Given the description of an element on the screen output the (x, y) to click on. 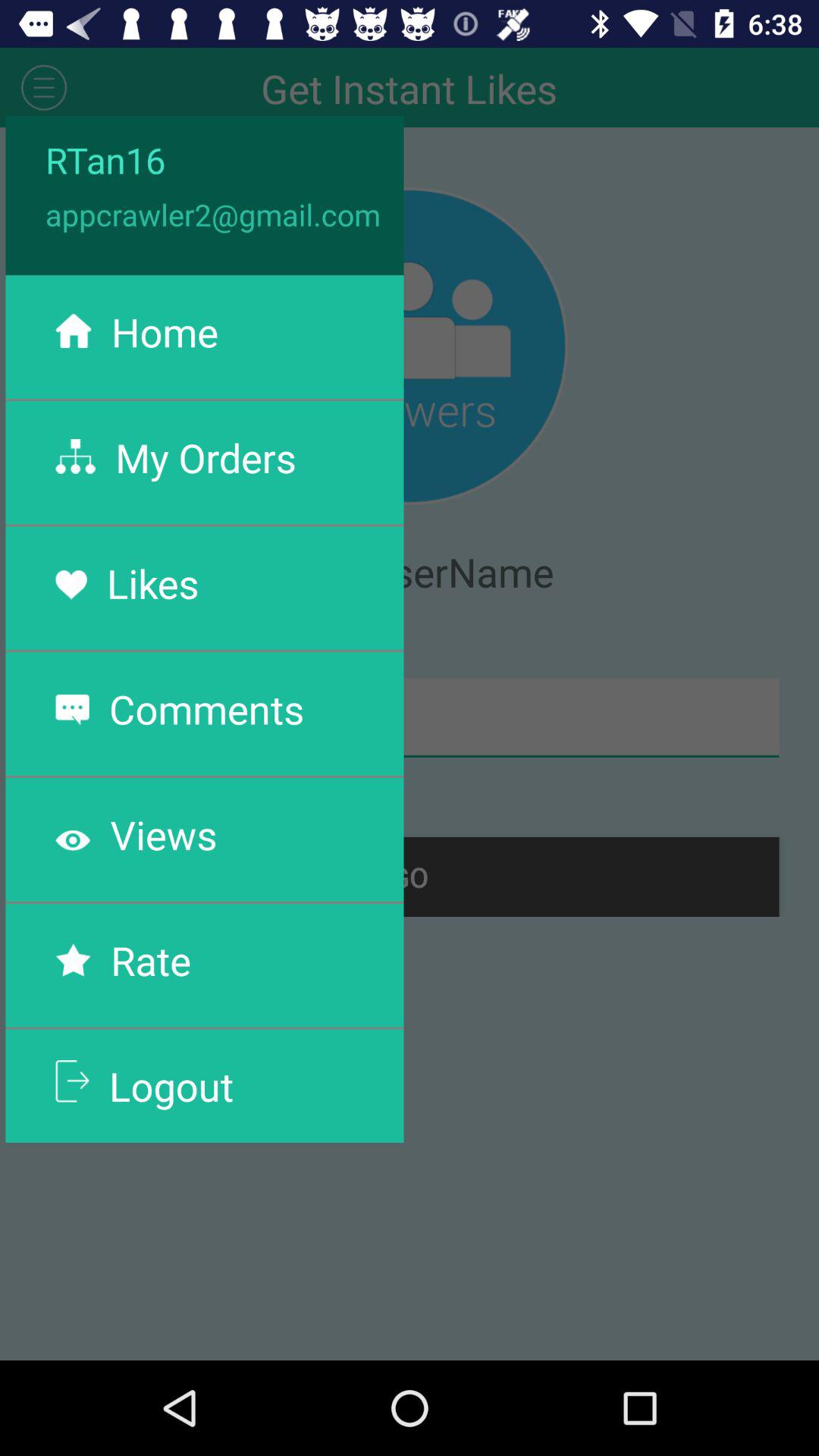
click likes item (152, 582)
